Given the description of an element on the screen output the (x, y) to click on. 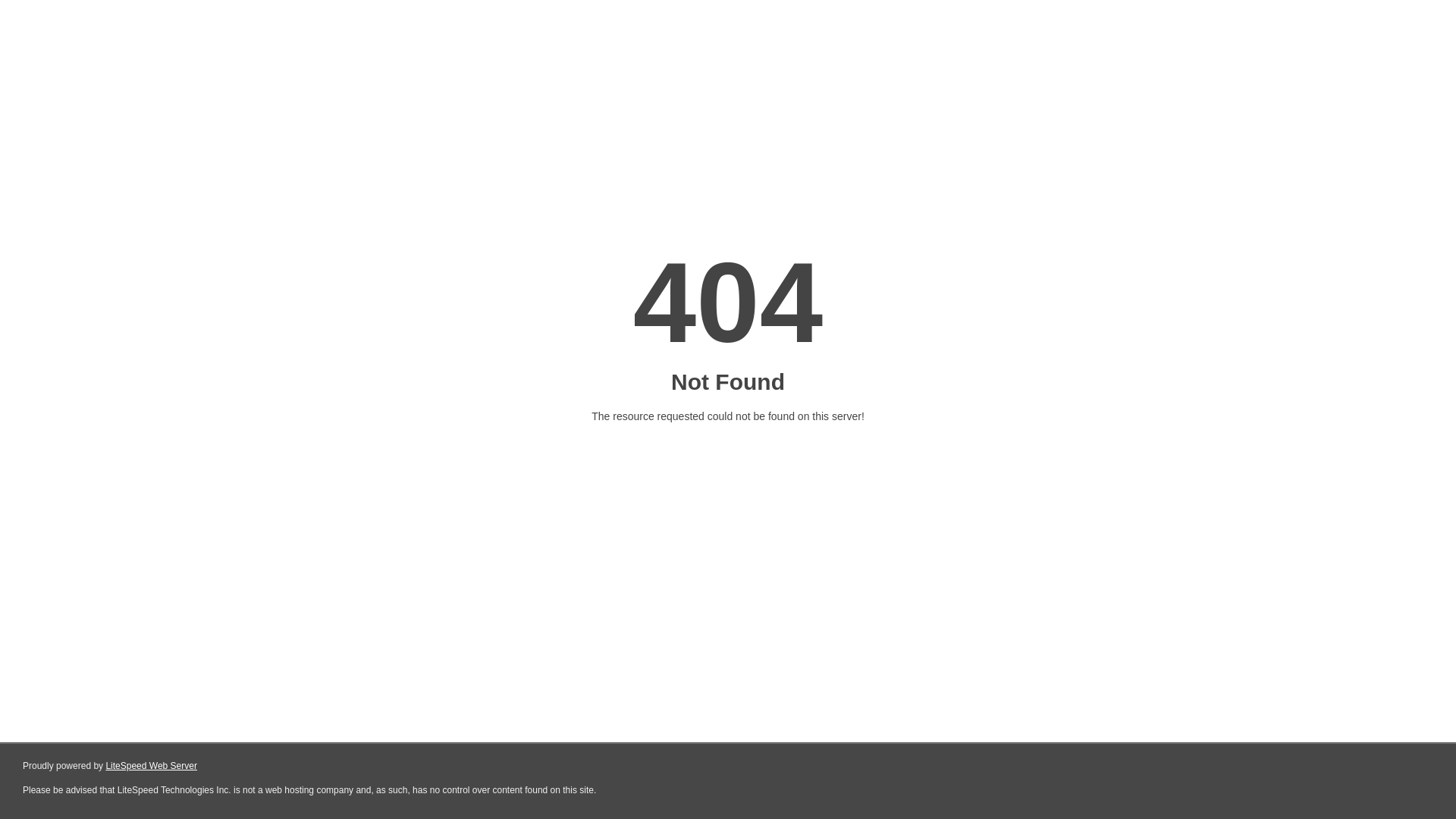
LiteSpeed Web Server Element type: text (151, 765)
